Given the description of an element on the screen output the (x, y) to click on. 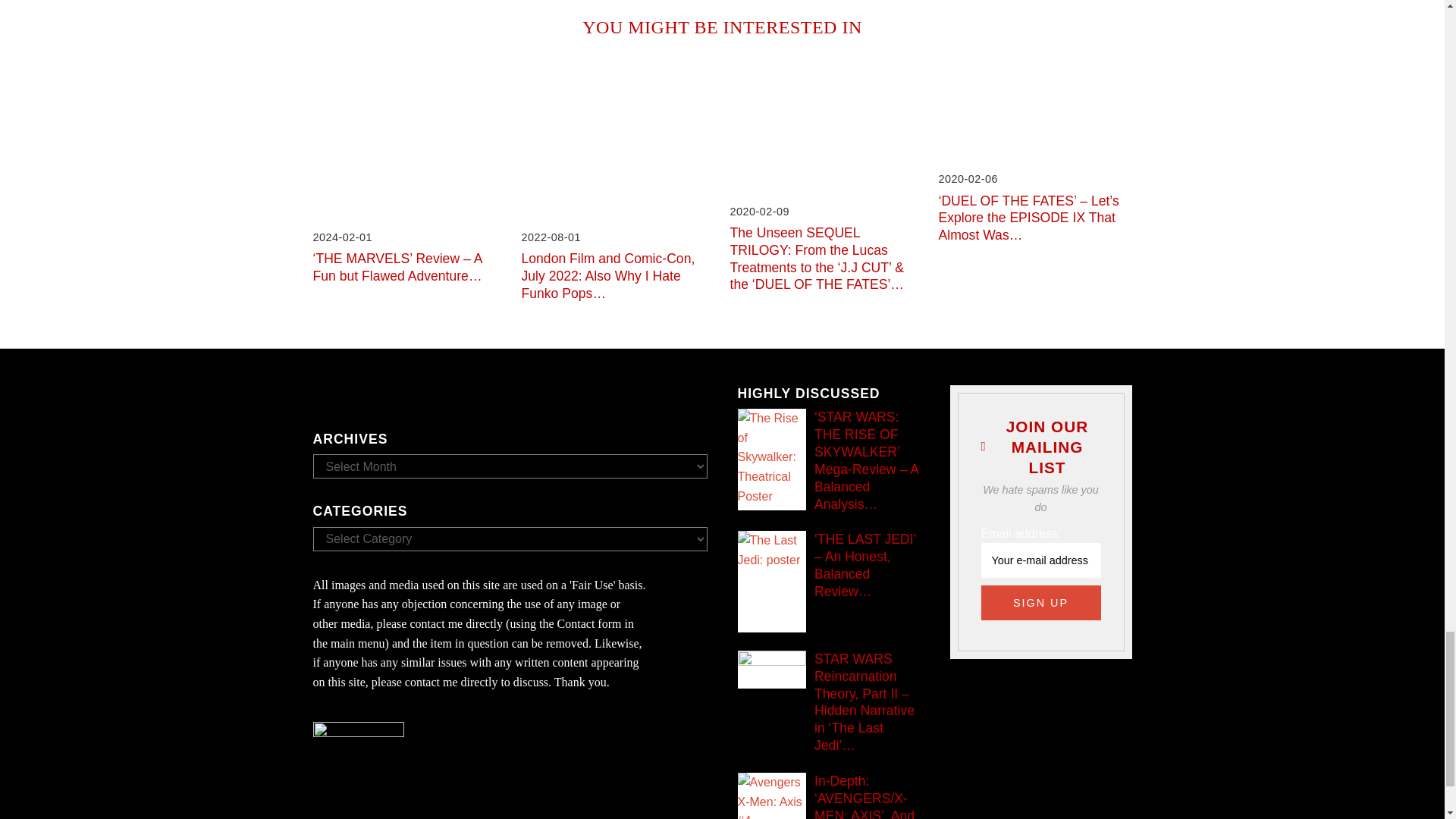
Sign up (1040, 602)
